Given the description of an element on the screen output the (x, y) to click on. 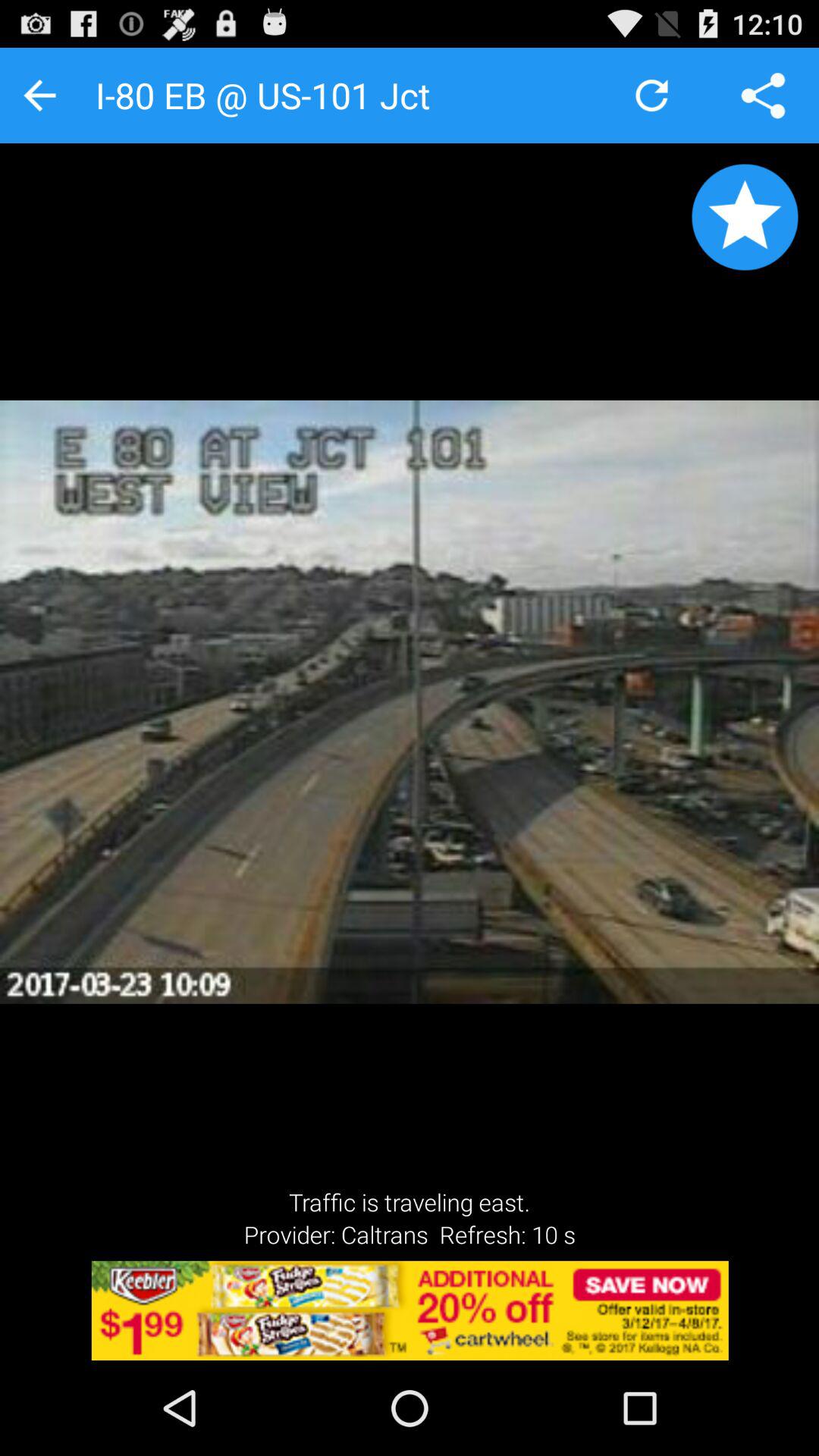
go to favourite option (745, 217)
